Given the description of an element on the screen output the (x, y) to click on. 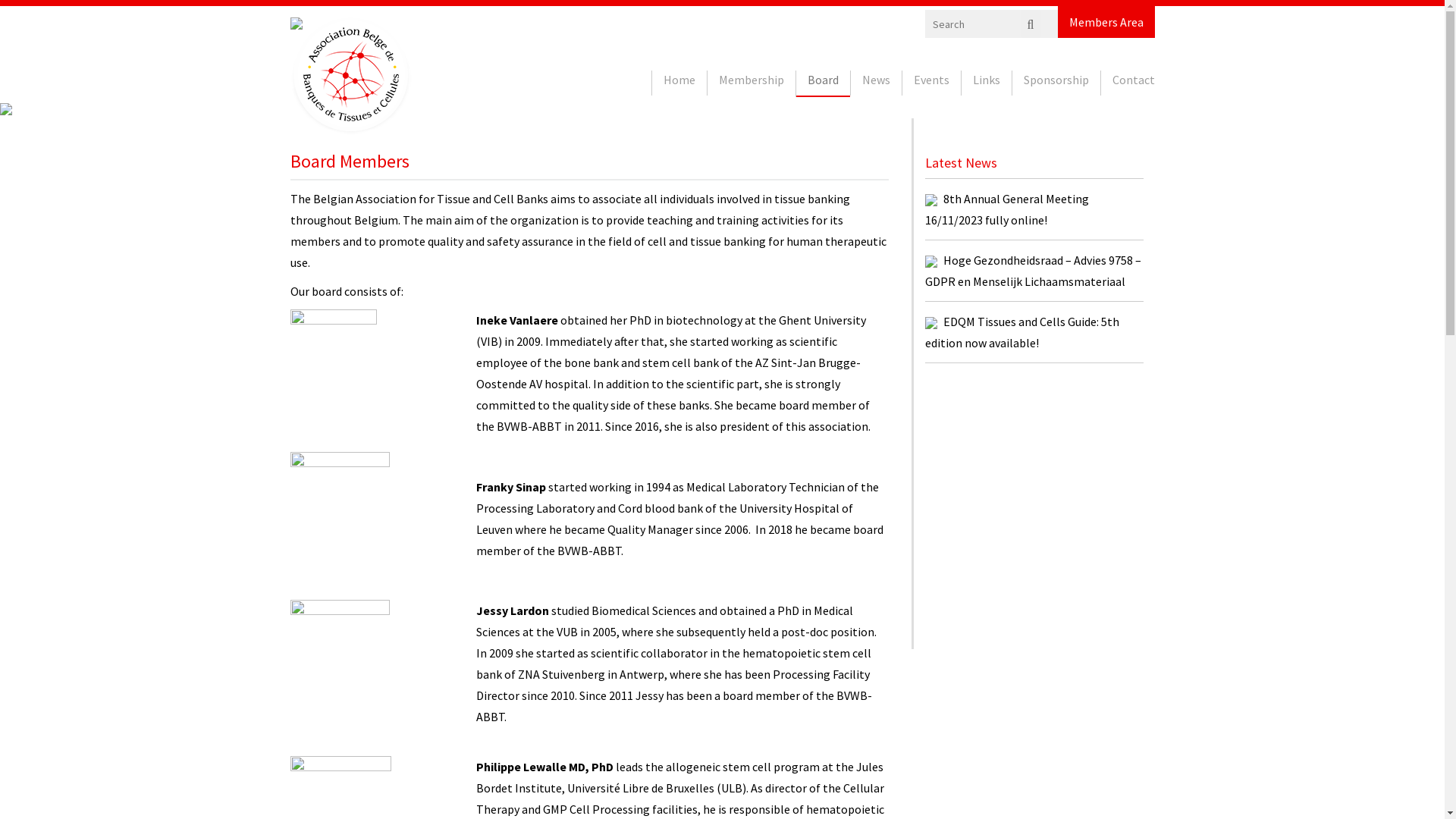
Board Element type: text (823, 83)
EDQM Tissues and Cells Guide: 5th edition now available! Element type: text (1022, 331)
News Element type: text (875, 82)
Members Area Element type: text (1106, 21)
8th Annual General Meeting 16/11/2023 fully online! Element type: text (1006, 209)
Sponsorship Element type: text (1055, 82)
Home Element type: text (679, 82)
Events Element type: text (931, 82)
Links Element type: text (986, 82)
Contact Element type: text (1133, 82)
Search for: Element type: hover (996, 23)
Membership Element type: text (750, 82)
